Given the description of an element on the screen output the (x, y) to click on. 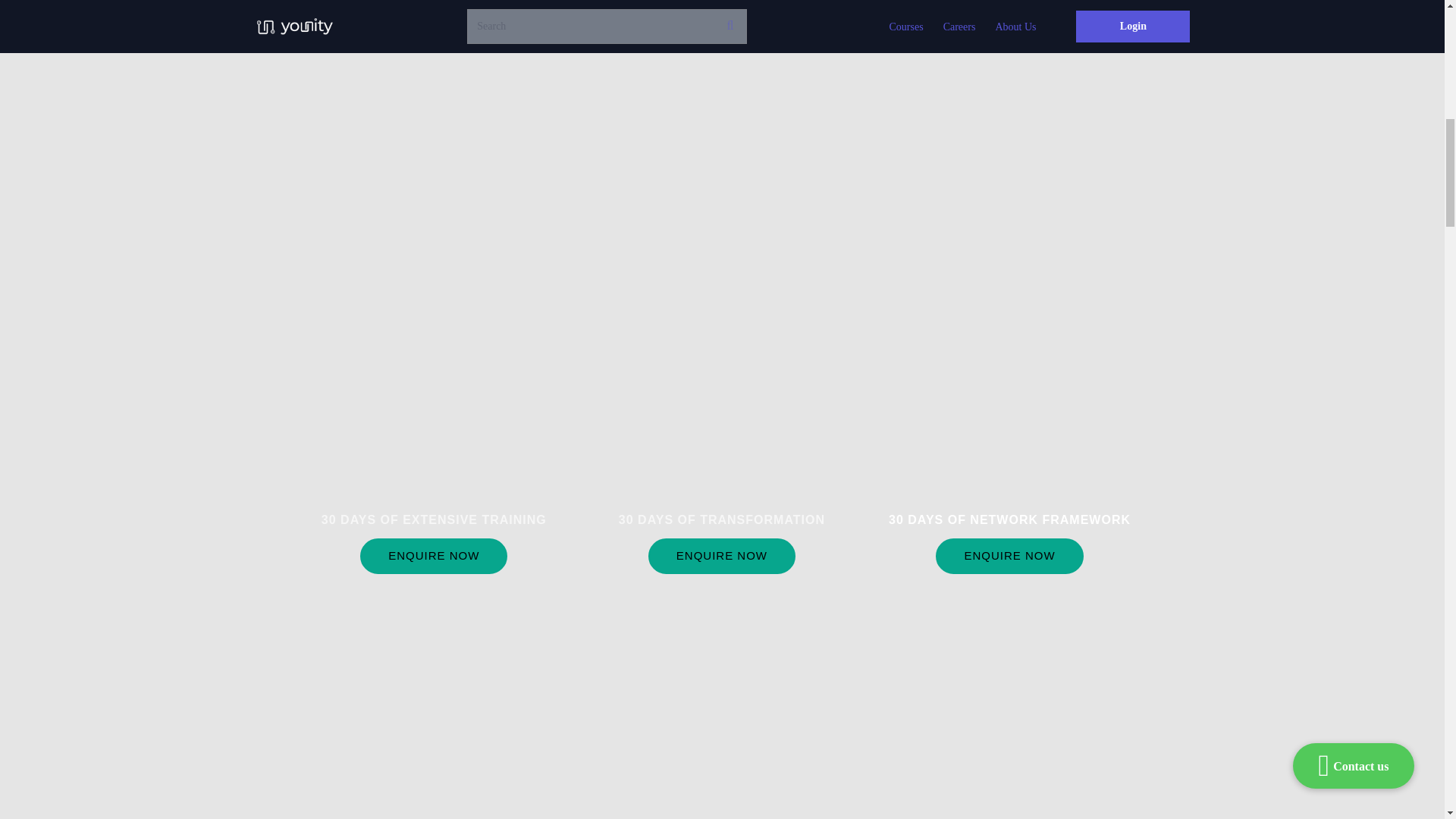
Networking Live Course (1009, 473)
Placement Training (433, 473)
Personality Development (720, 473)
ENQUIRE NOW (1009, 556)
ENQUIRE NOW (720, 556)
ENQUIRE NOW (432, 556)
